Given the description of an element on the screen output the (x, y) to click on. 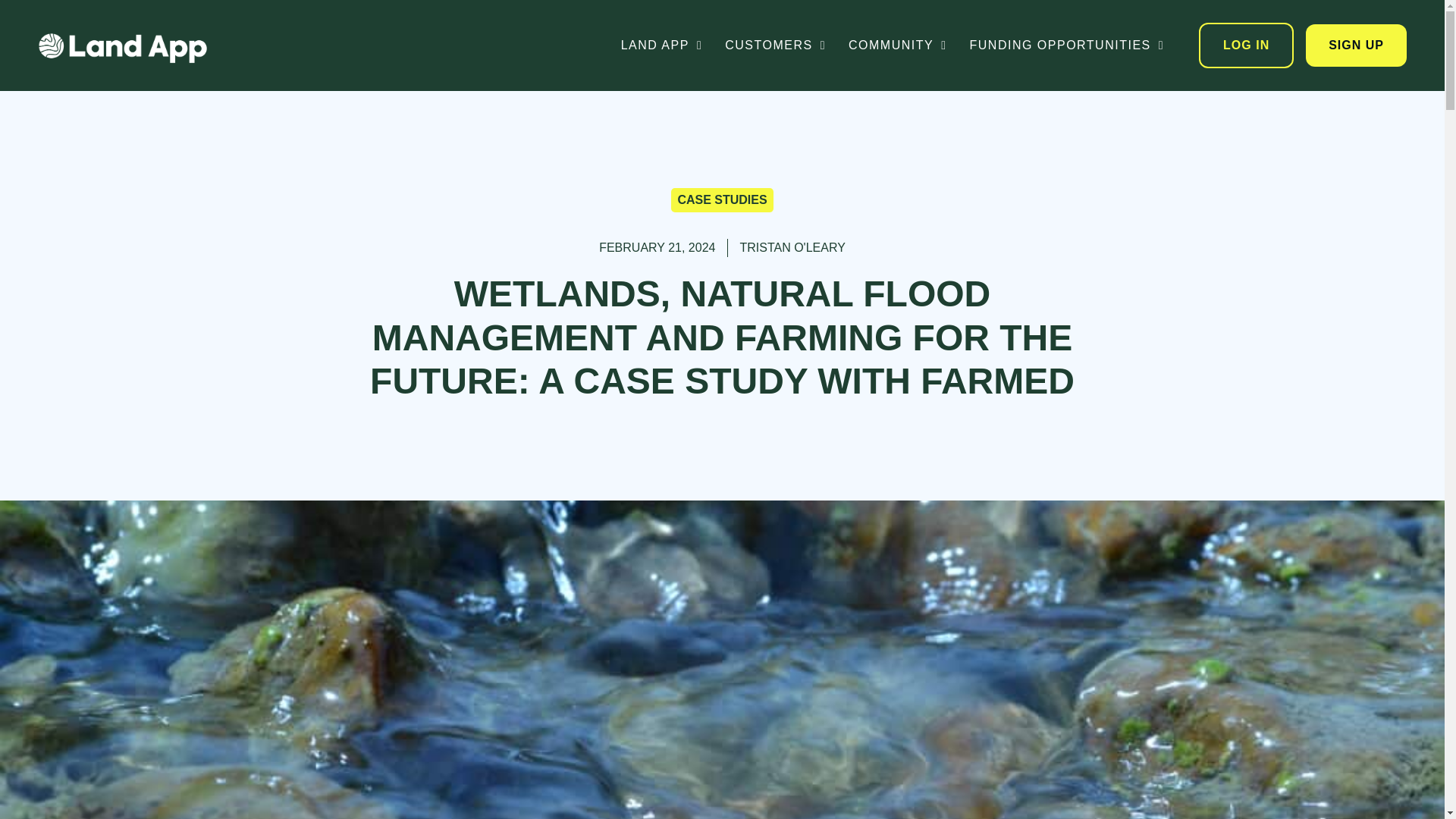
CUSTOMERS (786, 44)
SIGN UP (1356, 45)
COMMUNITY (908, 44)
LAND APP (673, 44)
LOG IN (1246, 44)
FEBRUARY 21, 2024 (656, 248)
CASE STUDIES (722, 199)
TRISTAN O'LEARY (791, 248)
FUNDING OPPORTUNITIES (1078, 44)
